Given the description of an element on the screen output the (x, y) to click on. 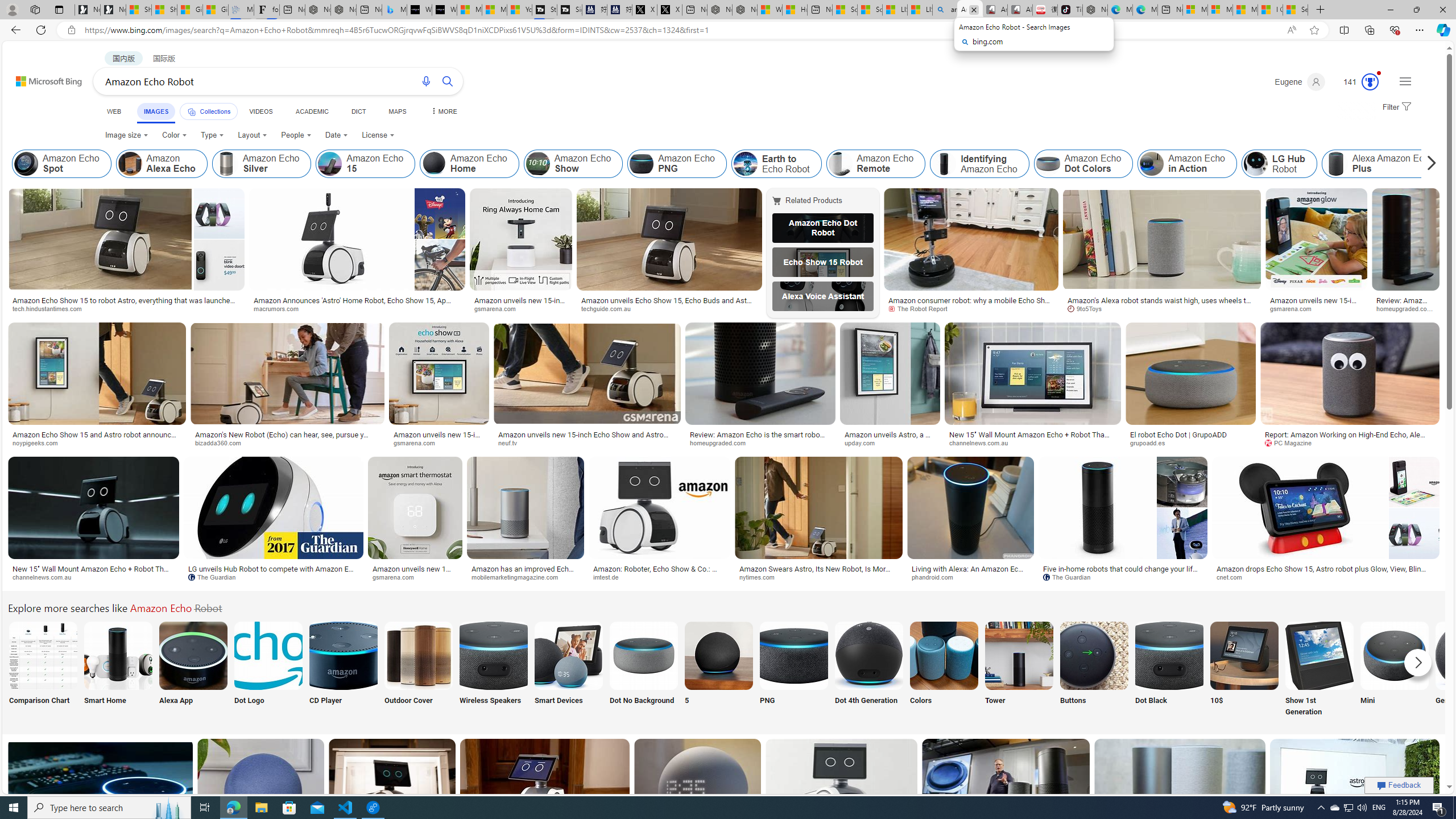
Amazon Echo Dot Black (1169, 654)
Nordace - Best Sellers (1094, 9)
Wireless Speakers (493, 669)
VIDEOS (260, 111)
Amazon Echo in Action (1187, 163)
Newsletter Sign Up (113, 9)
El robot Echo Dot | GrupoADD (1178, 434)
Amazon Echo Silver (226, 163)
techguide.com.au (609, 308)
Amazon Alexa Echo (129, 163)
